Given the description of an element on the screen output the (x, y) to click on. 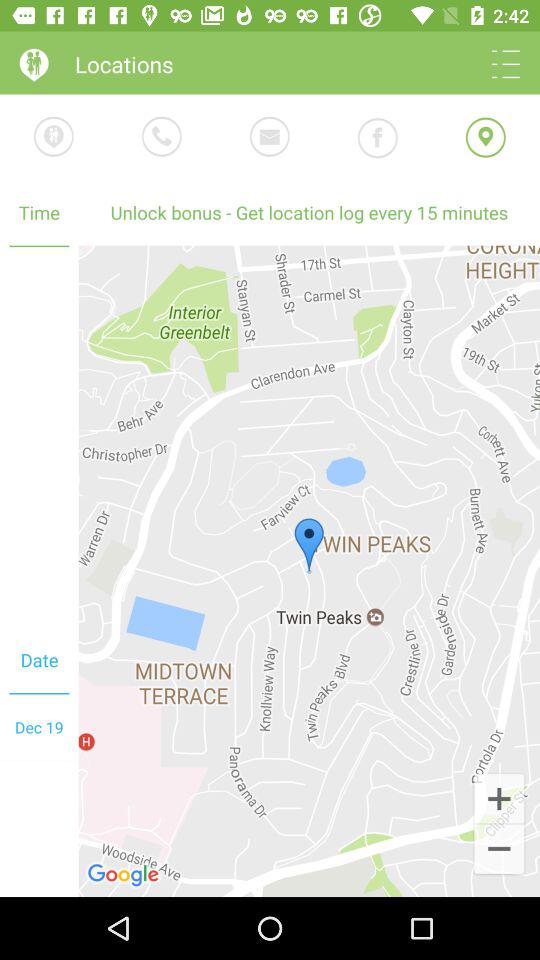
turn on item on the left (39, 437)
